Given the description of an element on the screen output the (x, y) to click on. 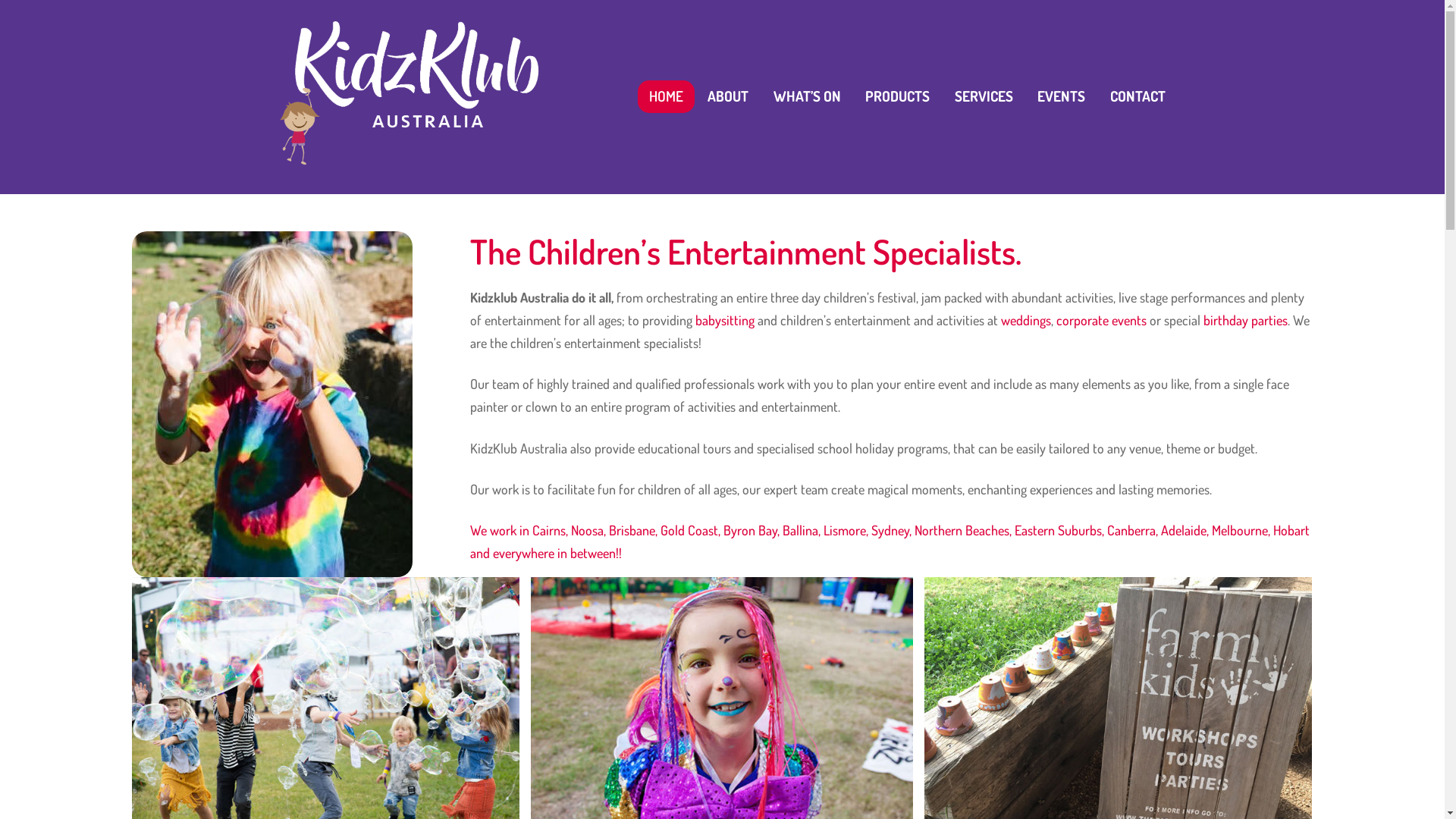
PRODUCTS Element type: text (897, 96)
EVENTS Element type: text (1061, 96)
birthday parties Element type: text (1245, 319)
HOME Element type: text (665, 96)
weddings Element type: text (1026, 319)
ABOUT Element type: text (727, 96)
babysitting Element type: text (724, 319)
CONTACT Element type: text (1137, 96)
SERVICES Element type: text (982, 96)
corporate events Element type: text (1101, 319)
